Given the description of an element on the screen output the (x, y) to click on. 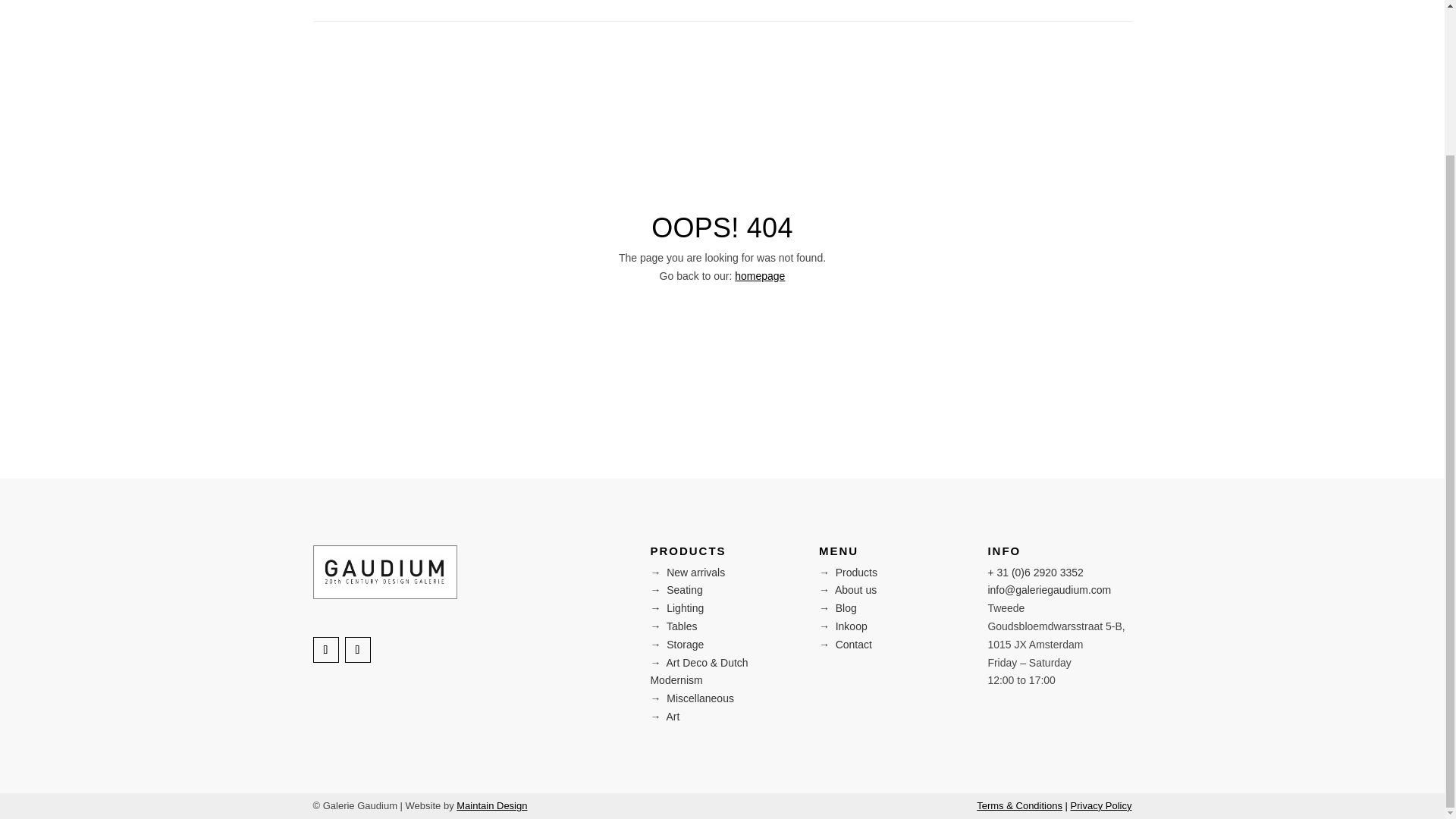
Follow on Instagram (356, 649)
LOGO GAUDIUM (385, 571)
Follow on Facebook (325, 649)
